Given the description of an element on the screen output the (x, y) to click on. 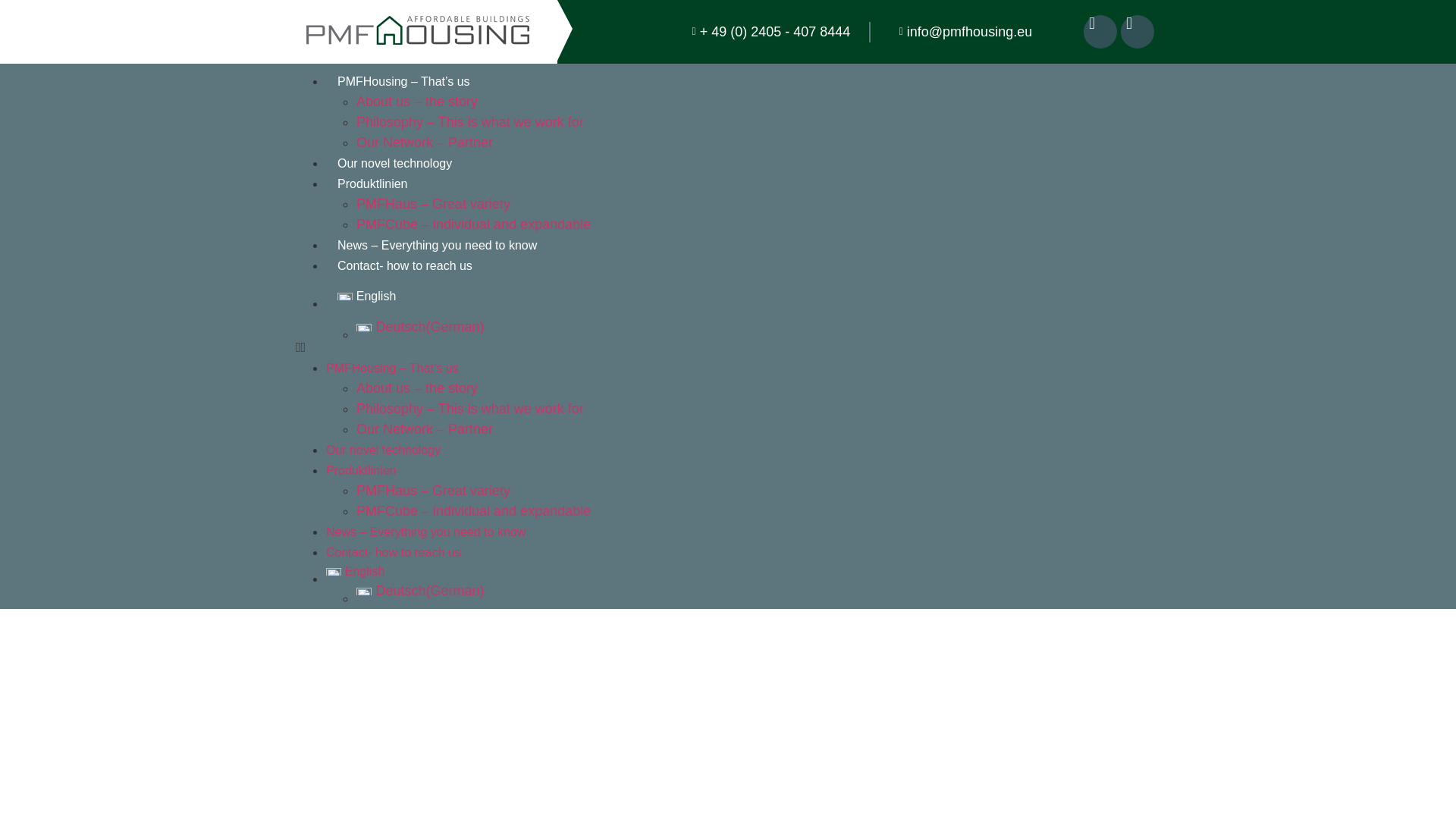
Produktlinien (372, 183)
Contact- how to reach us (393, 552)
Our novel technology (394, 162)
Produktlinien (361, 470)
English (660, 296)
English (660, 571)
German (675, 326)
German (675, 590)
Our novel technology (383, 449)
Contact- how to reach us (404, 265)
